Given the description of an element on the screen output the (x, y) to click on. 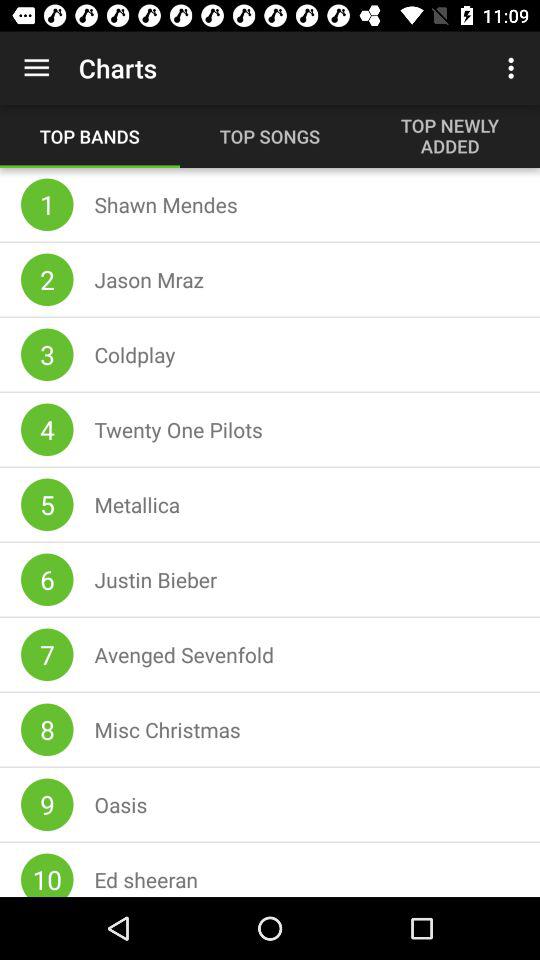
tap item next to charts (36, 68)
